Given the description of an element on the screen output the (x, y) to click on. 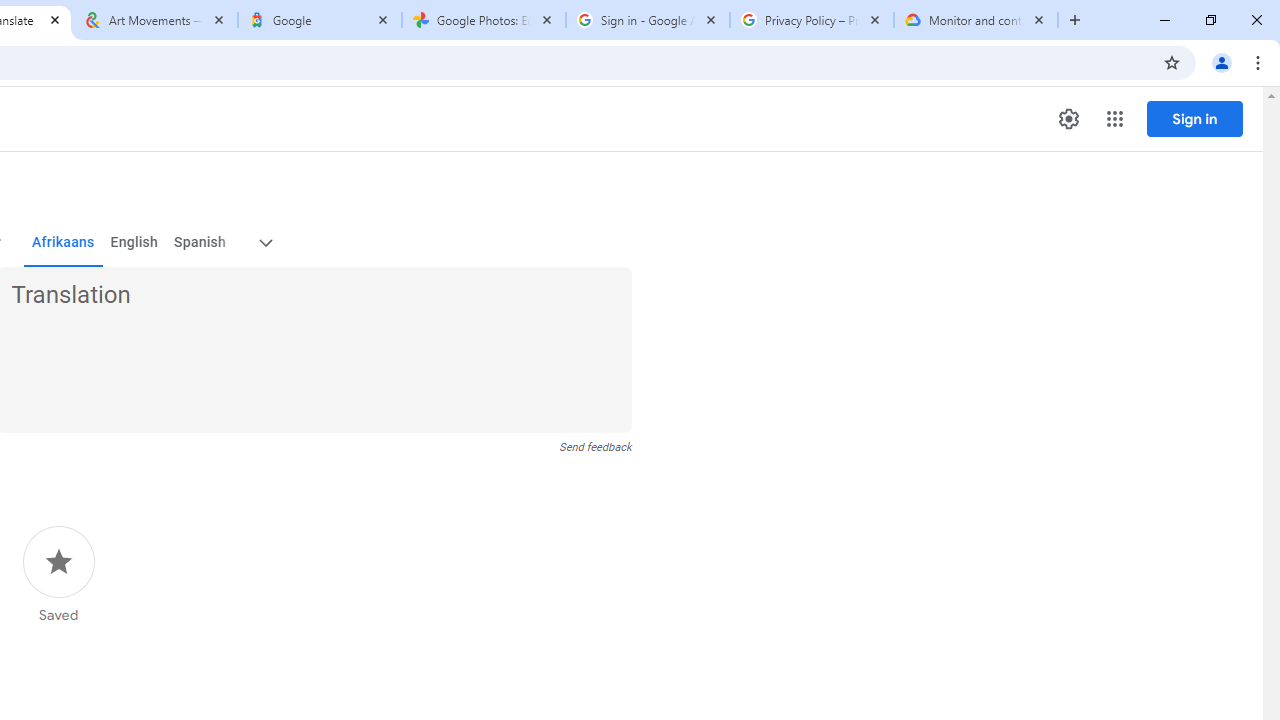
Saved (57, 575)
More target languages (264, 242)
Spanish (199, 242)
